Given the description of an element on the screen output the (x, y) to click on. 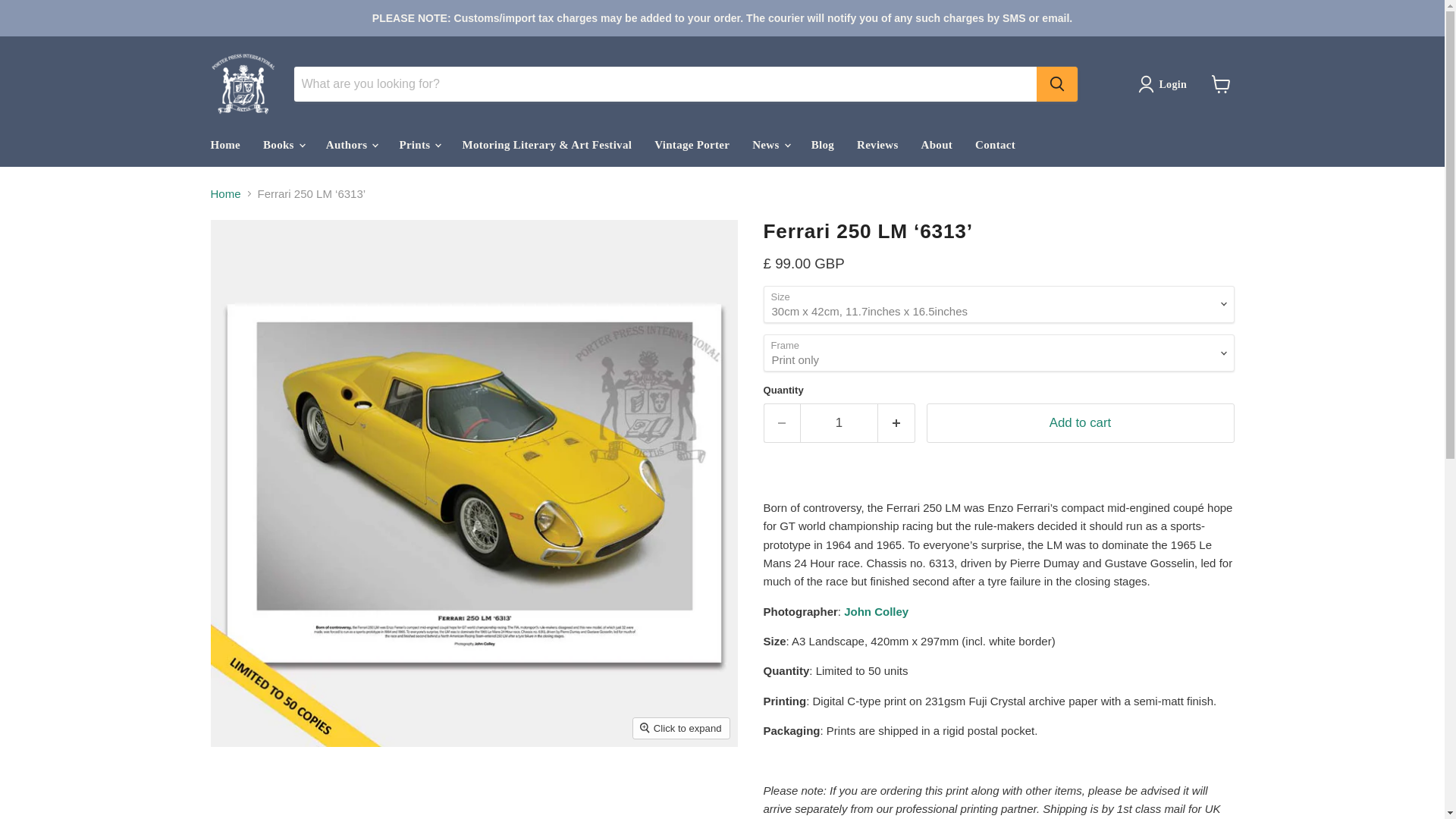
View cart (1221, 83)
Home (224, 144)
1 (838, 422)
John Colley Collection (876, 611)
Login (1165, 84)
